Given the description of an element on the screen output the (x, y) to click on. 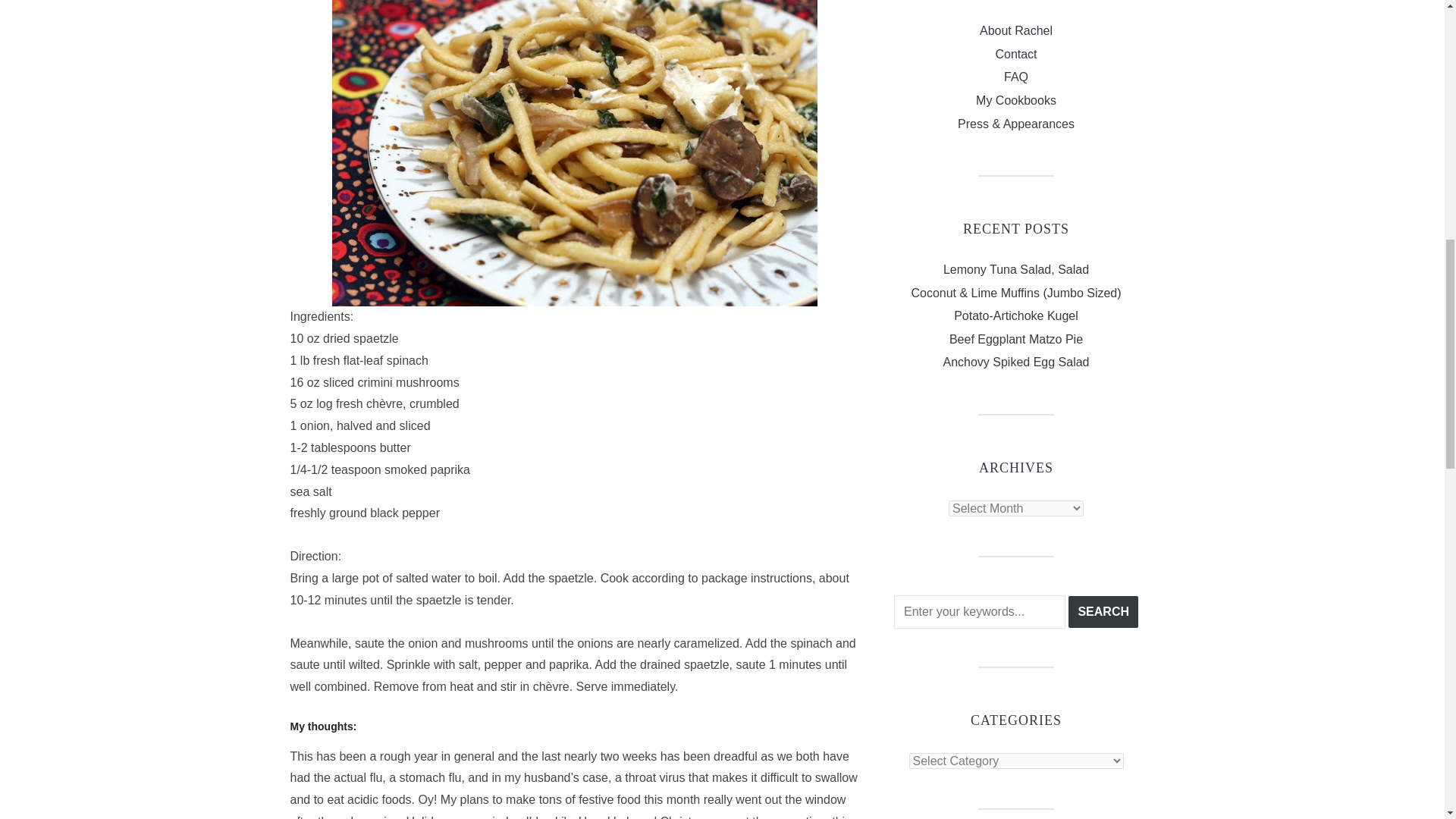
Search (1103, 612)
Search (1103, 612)
